Given the description of an element on the screen output the (x, y) to click on. 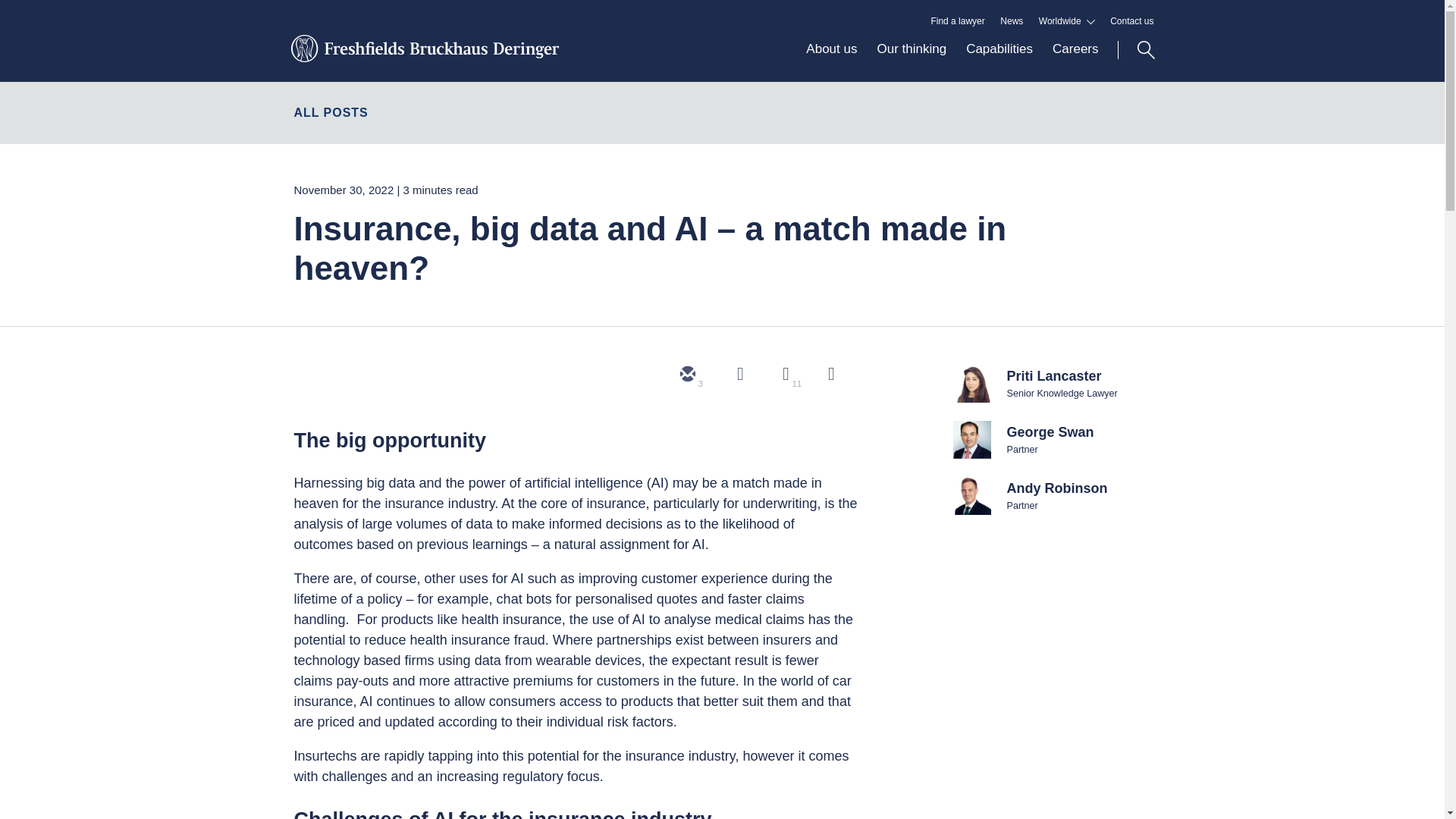
Worldwide (1066, 21)
Find a lawyer (957, 21)
Careers (1069, 60)
Capabilities (999, 60)
Search (1136, 49)
About us (831, 60)
Contact us (1131, 21)
Freshfields Bruckhaus Deringer (423, 56)
News (1011, 21)
Our thinking (911, 60)
